Given the description of an element on the screen output the (x, y) to click on. 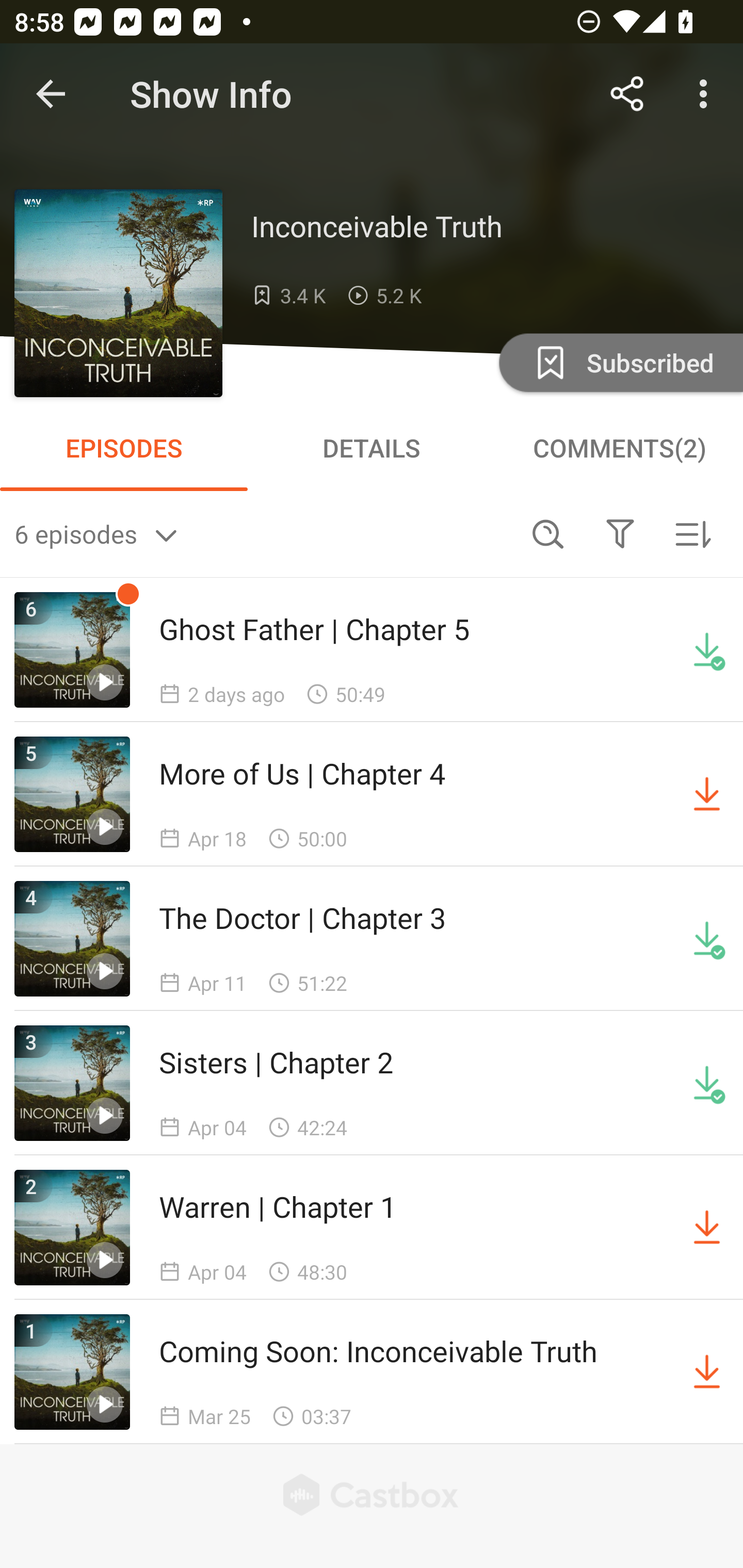
Navigate up (50, 93)
Share (626, 93)
More options (706, 93)
Unsubscribe Subscribed (619, 361)
EPISODES (123, 447)
DETAILS (371, 447)
COMMENTS(2) (619, 447)
6 episodes  (262, 533)
 Search (547, 533)
 (619, 533)
 Sorted by newest first (692, 533)
Downloaded (706, 649)
Download (706, 793)
Downloaded (706, 939)
Downloaded (706, 1083)
Download (706, 1227)
Download (706, 1371)
